Given the description of an element on the screen output the (x, y) to click on. 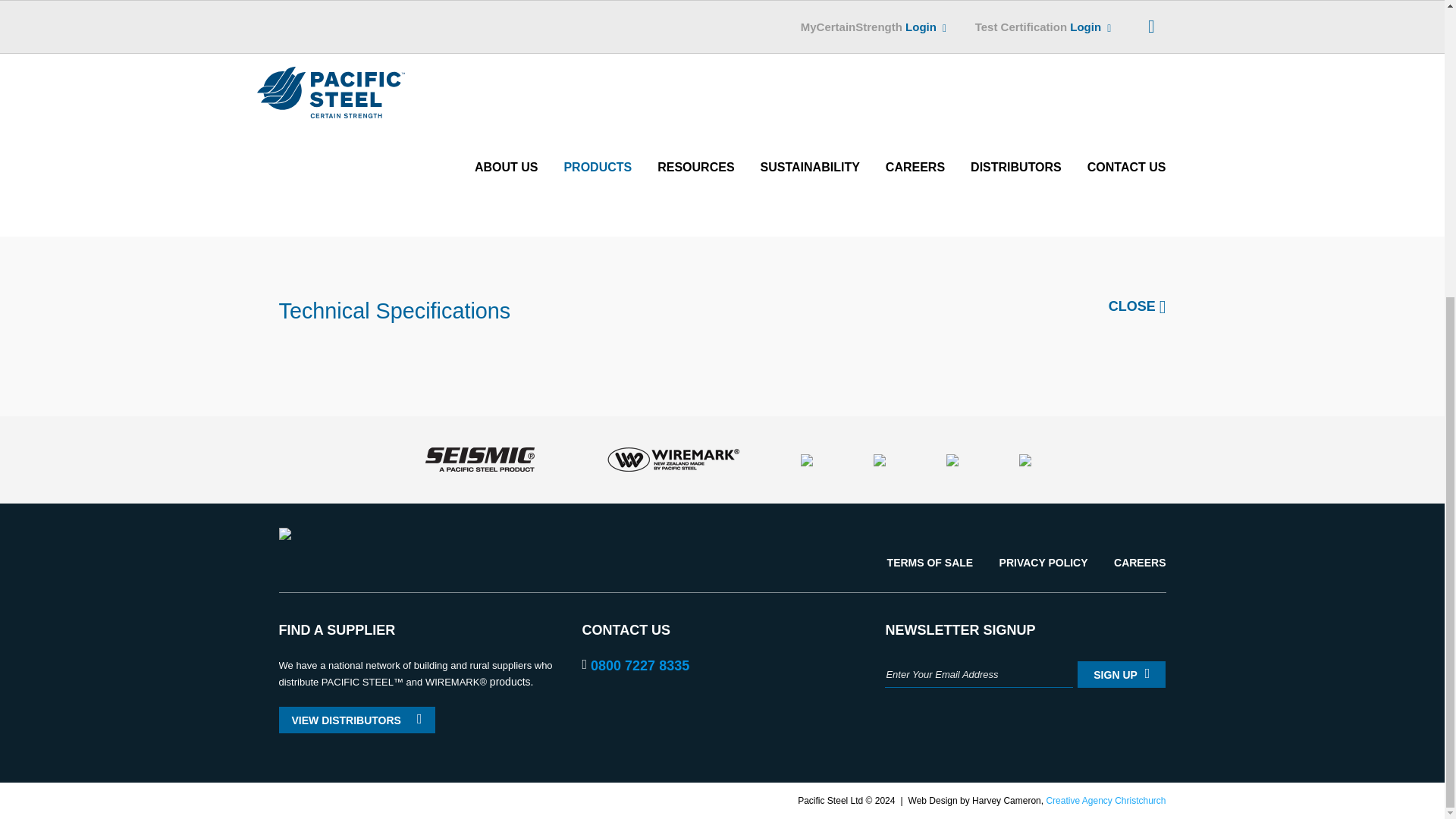
CLOSE (1137, 306)
Pacific Steel (285, 533)
